Given the description of an element on the screen output the (x, y) to click on. 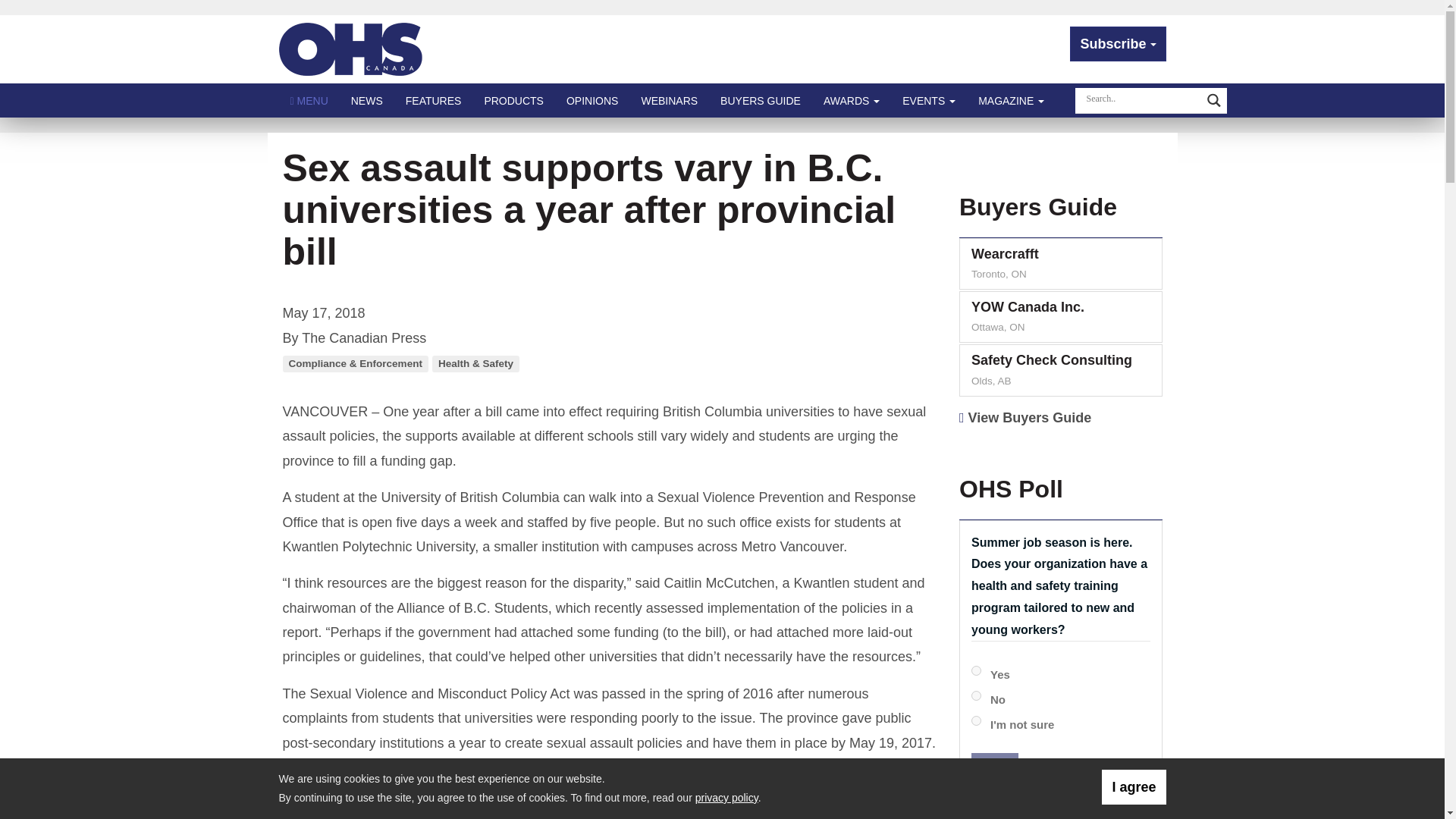
Click to show site navigation (309, 100)
PRODUCTS (512, 100)
Vote (994, 769)
EVENTS (928, 100)
WEBINARS (668, 100)
OPINIONS (591, 100)
OHS Canada Magazine (351, 48)
BUYERS GUIDE (760, 100)
gpoll188dfb902 (976, 696)
AWARDS (851, 100)
NEWS (366, 100)
Subscribe (1118, 43)
gpoll141fdf755 (976, 720)
MENU (309, 100)
gpoll135233128 (976, 670)
